Given the description of an element on the screen output the (x, y) to click on. 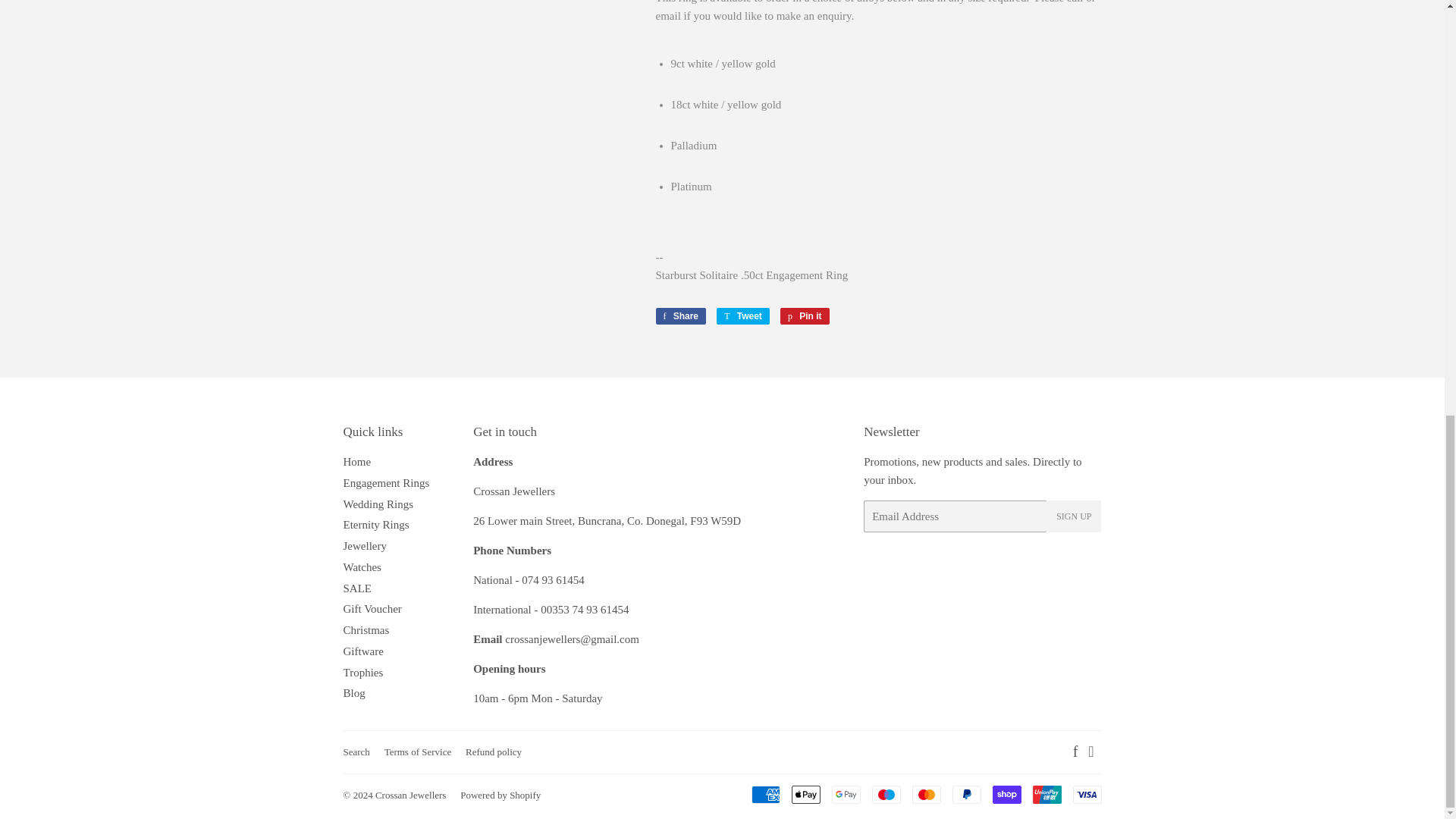
Google Pay (845, 794)
Pin on Pinterest (804, 315)
Maestro (886, 794)
Shop Pay (1005, 794)
Mastercard (925, 794)
Union Pay (1046, 794)
Apple Pay (806, 794)
Tweet on Twitter (743, 315)
PayPal (966, 794)
Share on Facebook (680, 315)
American Express (764, 794)
Visa (1085, 794)
